Given the description of an element on the screen output the (x, y) to click on. 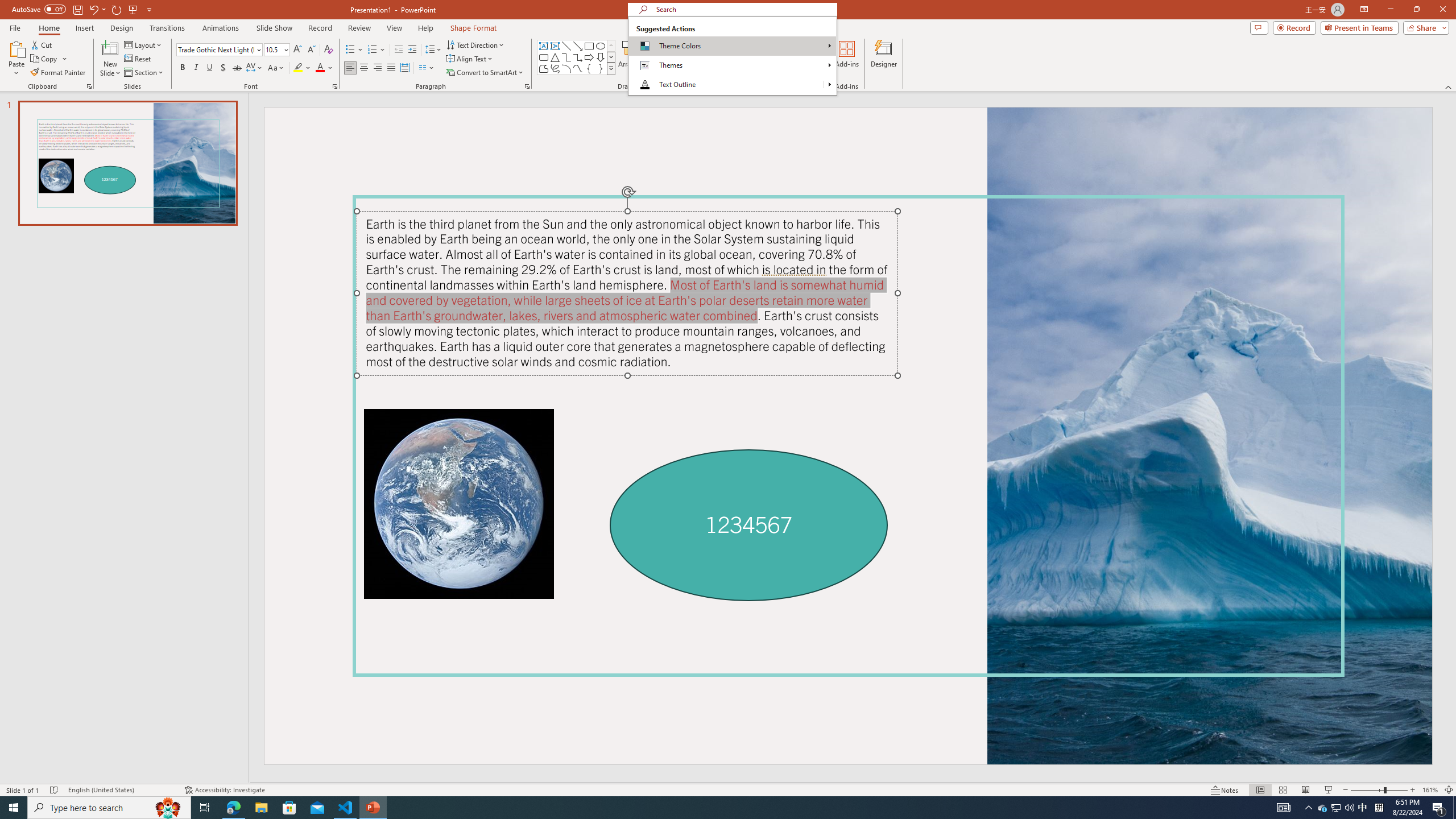
Shape Fill Aqua, Accent 2 (675, 44)
